Given the description of an element on the screen output the (x, y) to click on. 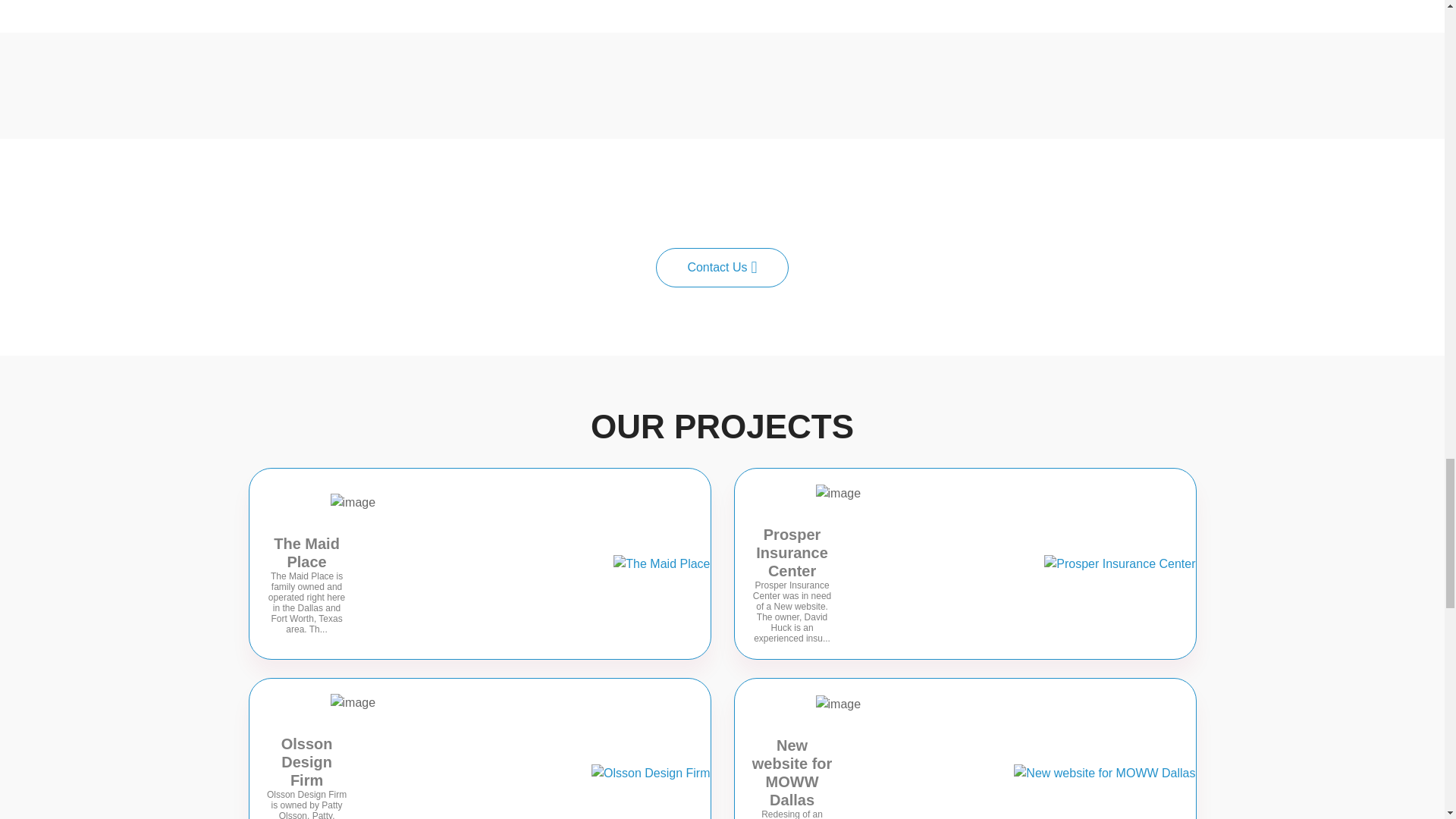
Contact Us (722, 266)
